Given the description of an element on the screen output the (x, y) to click on. 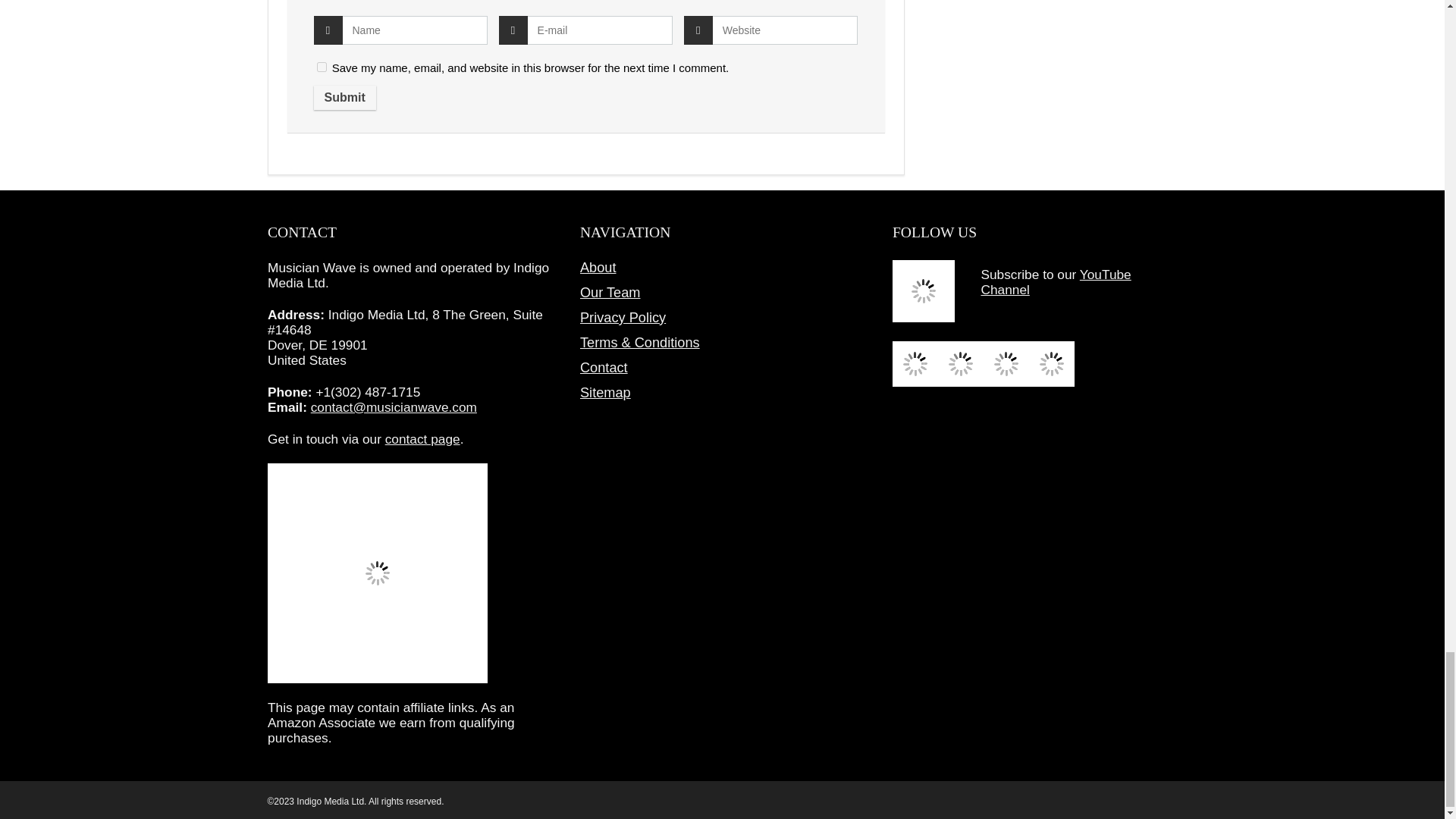
yes (321, 67)
Submit (344, 97)
Submit (344, 97)
